Given the description of an element on the screen output the (x, y) to click on. 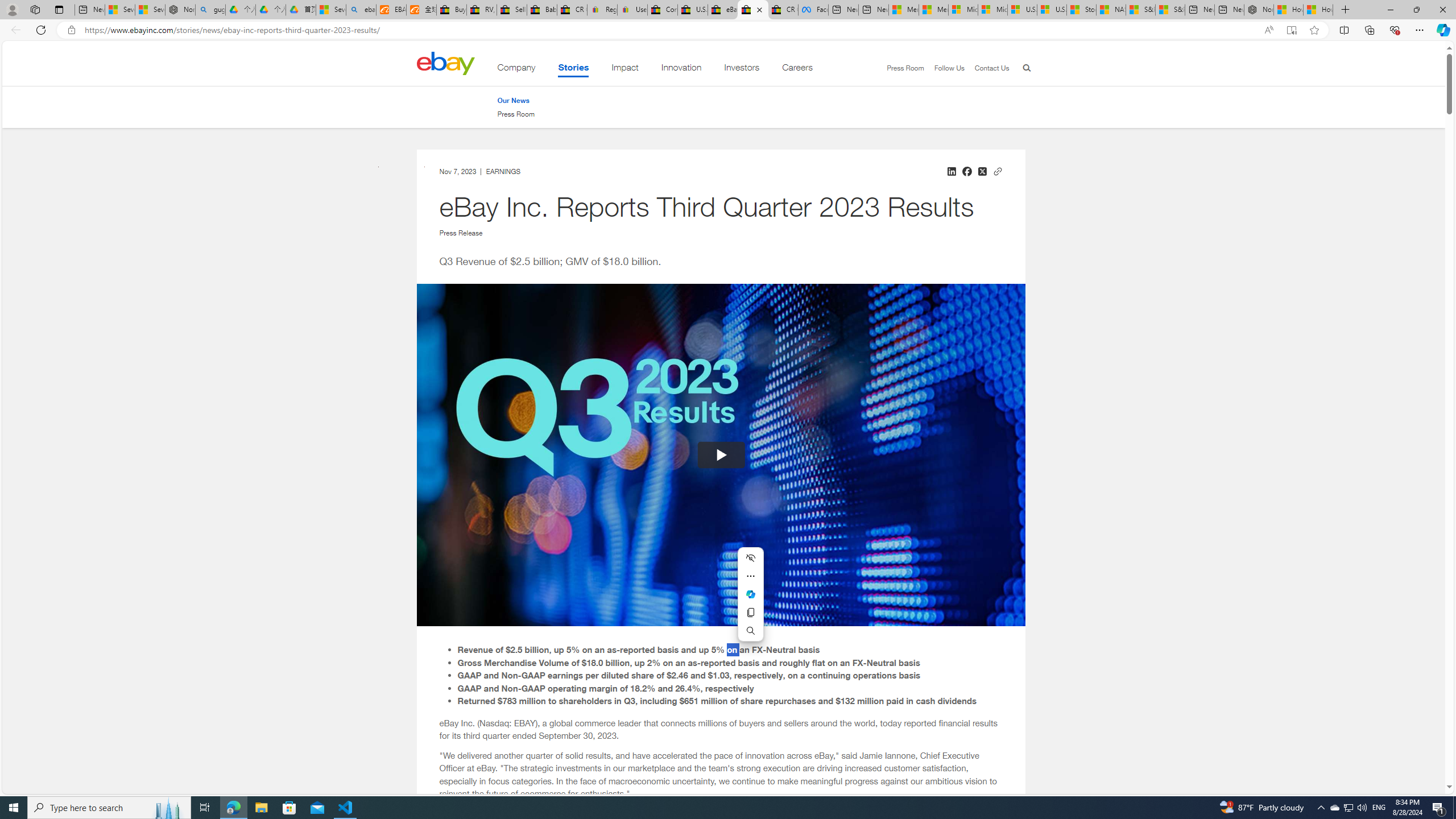
Investors (741, 69)
Follow Us (948, 67)
Enter Immersive Reader (F9) (1291, 29)
Stories (573, 69)
